Given the description of an element on the screen output the (x, y) to click on. 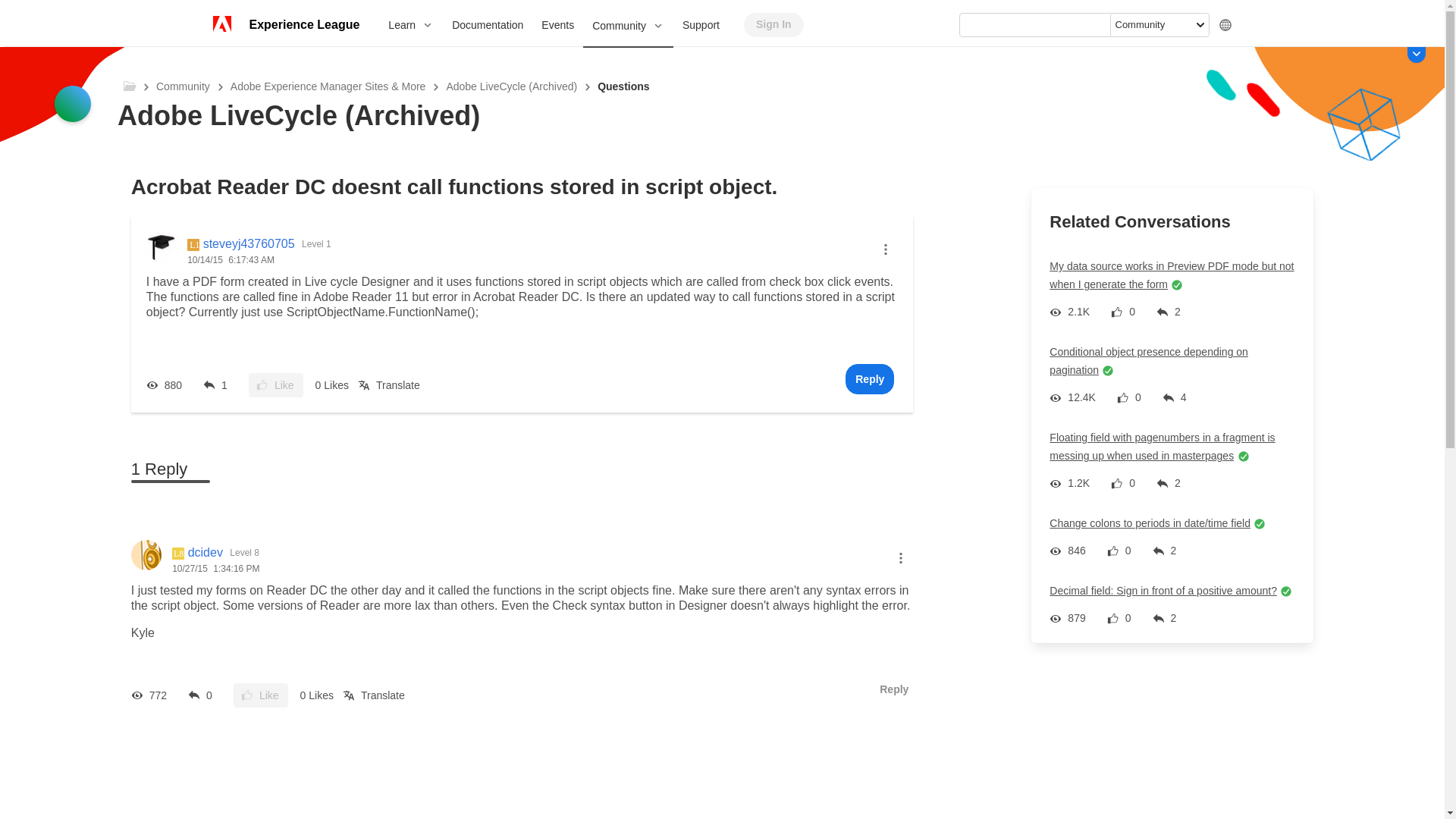
Learn (410, 24)
Community (627, 25)
Events (557, 24)
Learn (410, 24)
Experience League (304, 24)
Experience League (304, 24)
Documentation (487, 24)
